Given the description of an element on the screen output the (x, y) to click on. 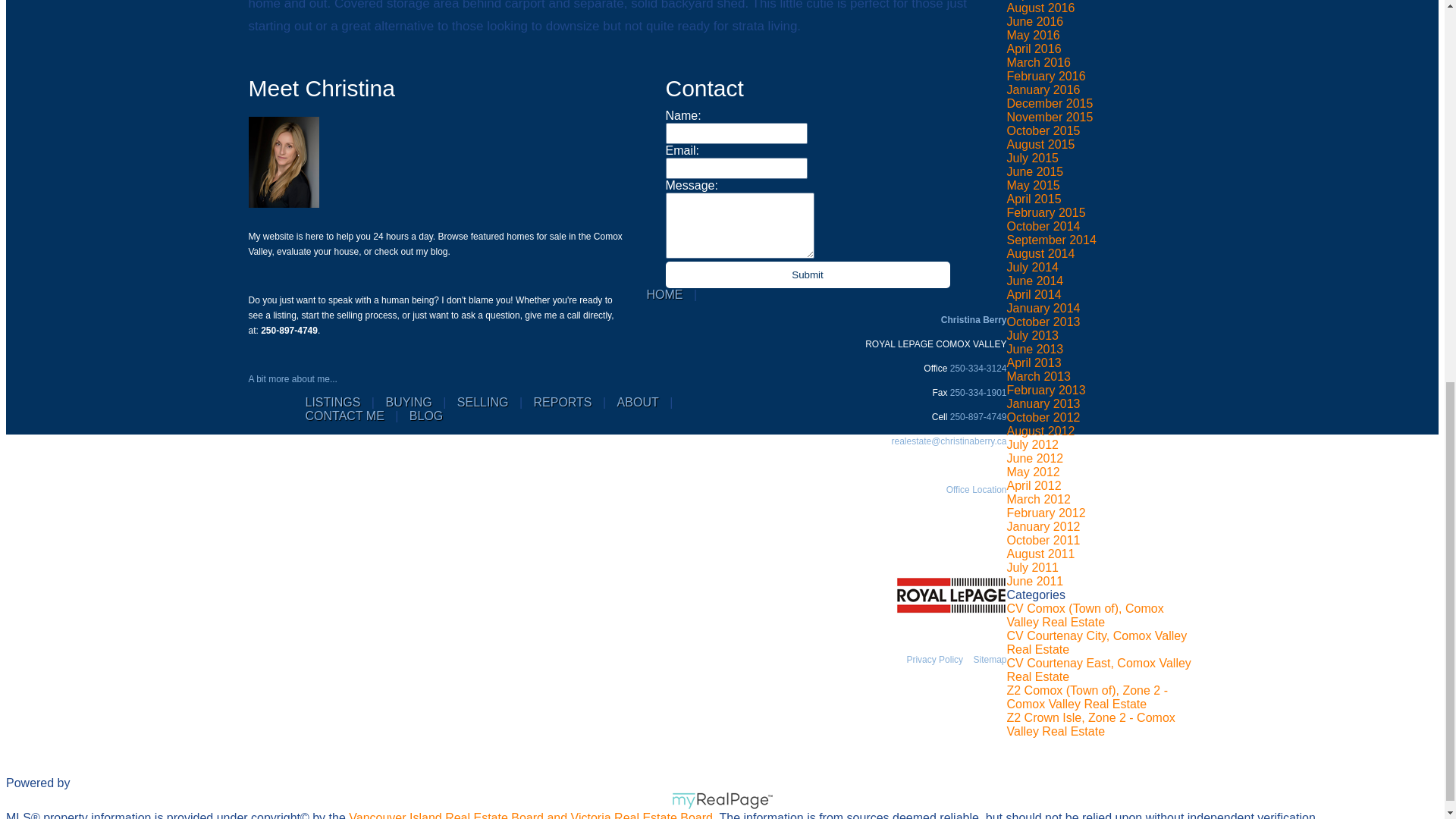
About (638, 401)
Buying (407, 401)
Reports (561, 401)
Contact Me (344, 415)
Home (664, 294)
Listings (331, 401)
Selling (482, 401)
Blog (425, 415)
